Given the description of an element on the screen output the (x, y) to click on. 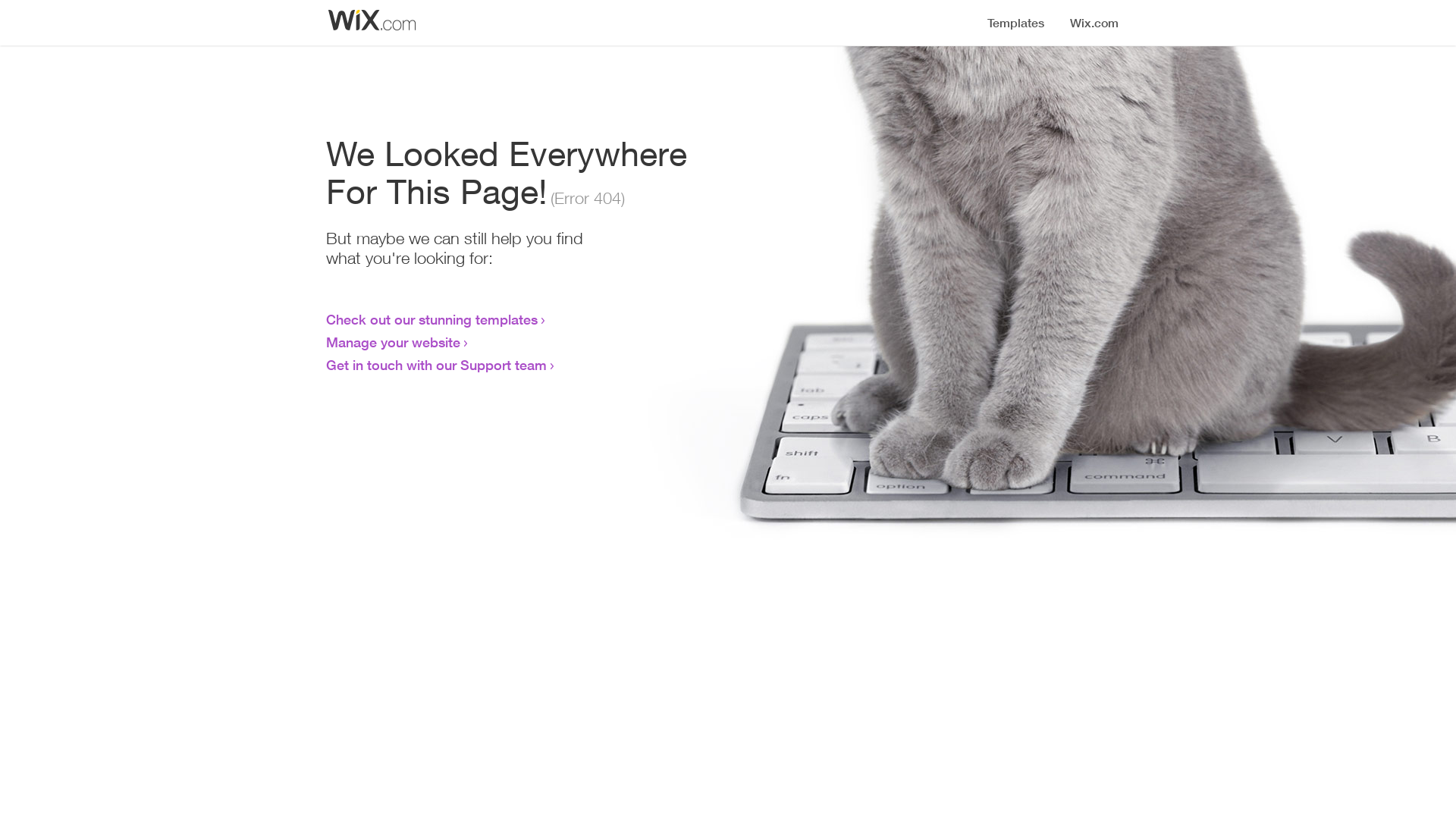
Manage your website Element type: text (393, 341)
Get in touch with our Support team Element type: text (436, 364)
Check out our stunning templates Element type: text (431, 318)
